Given the description of an element on the screen output the (x, y) to click on. 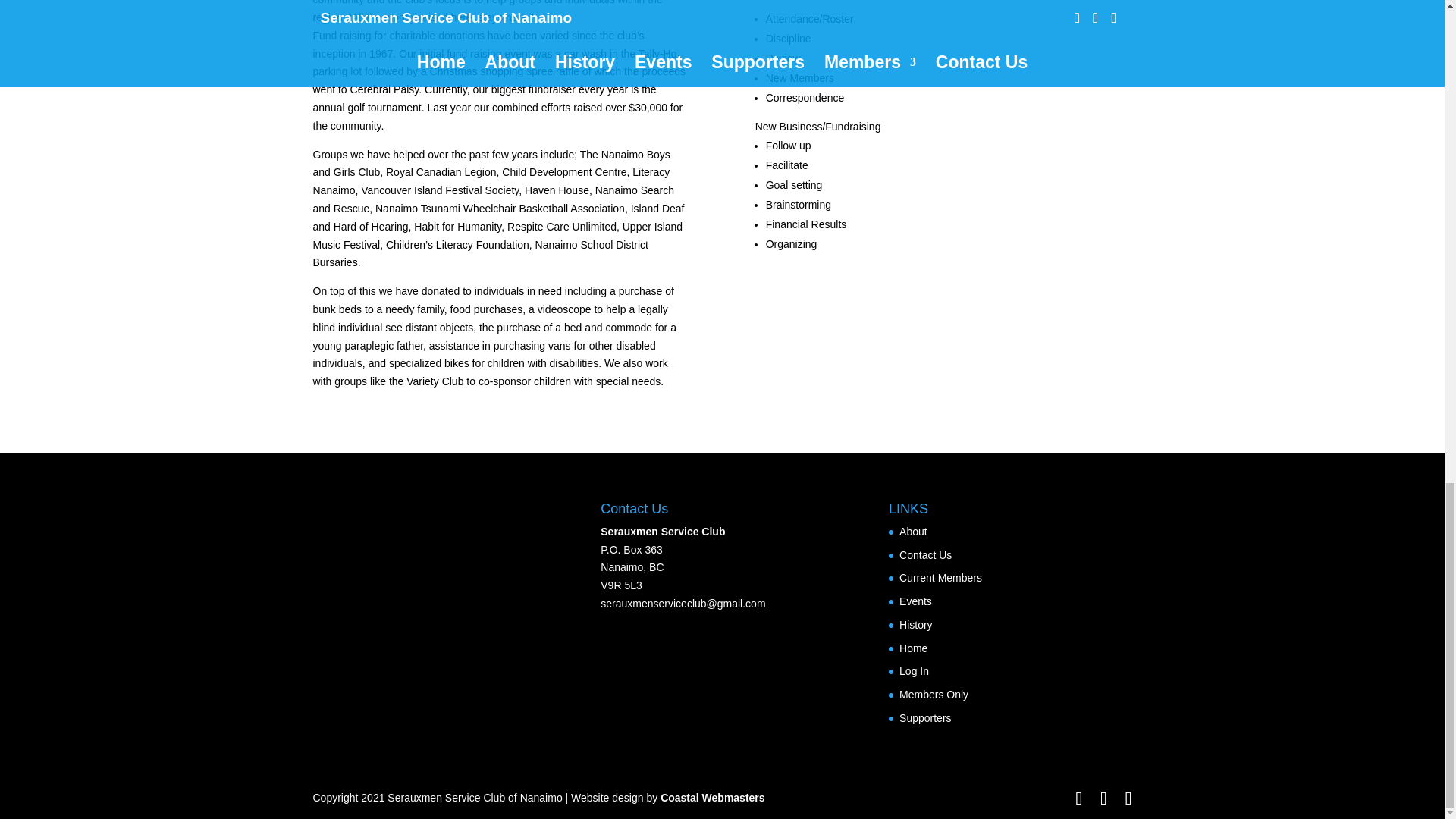
About (913, 531)
Members Only (933, 694)
Log In (913, 671)
Contact Us (925, 554)
Coastal Webmasters (712, 797)
Supporters (924, 717)
History (916, 624)
Current Members (940, 577)
Events (915, 601)
Home (913, 648)
